Given the description of an element on the screen output the (x, y) to click on. 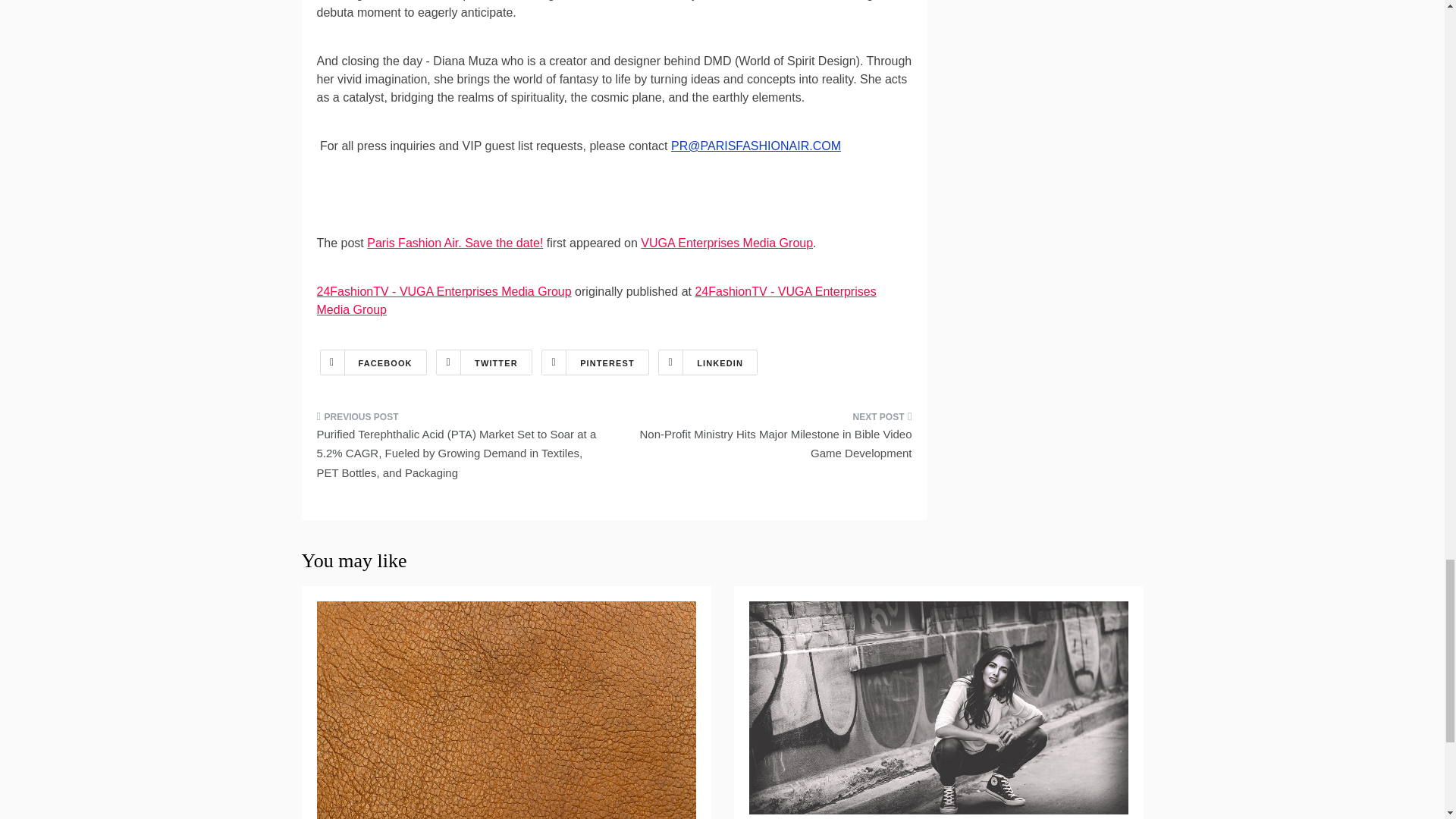
TWITTER (483, 362)
LINKEDIN (707, 362)
PINTEREST (595, 362)
Paris Fashion Air. Save the date! (454, 242)
24FashionTV - VUGA Enterprises Media Group (596, 300)
VUGA Enterprises Media Group (726, 242)
FACEBOOK (373, 362)
